Given the description of an element on the screen output the (x, y) to click on. 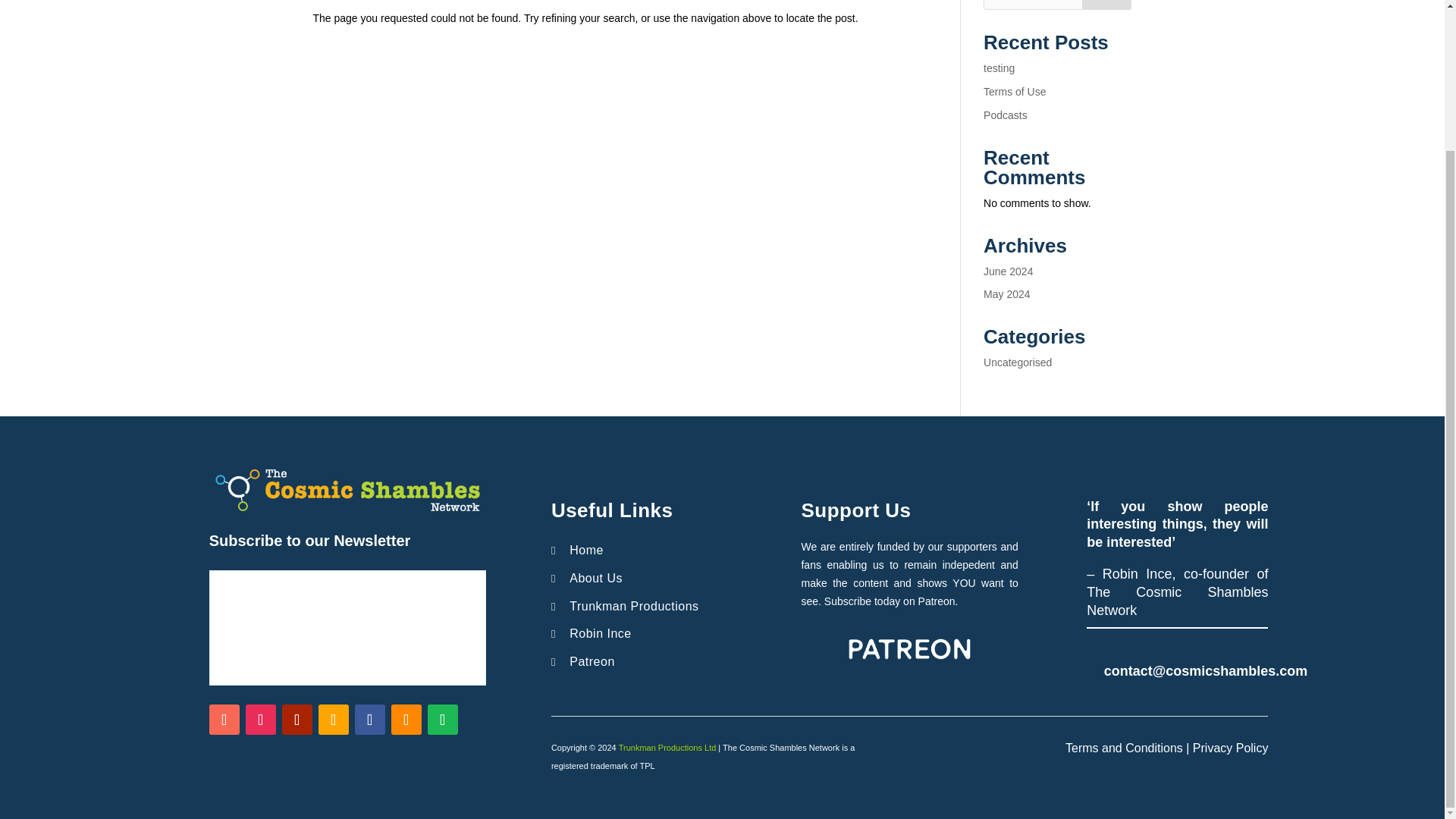
Follow on Youtube (297, 719)
Trunkman Productions (633, 605)
Home (586, 549)
Follow on Substack (333, 719)
testing (999, 68)
Follow on SoundCloud (406, 719)
Follow on Facebook (370, 719)
Follow on Instagram (261, 719)
June 2024 (1008, 271)
May 2024 (1006, 294)
